Given the description of an element on the screen output the (x, y) to click on. 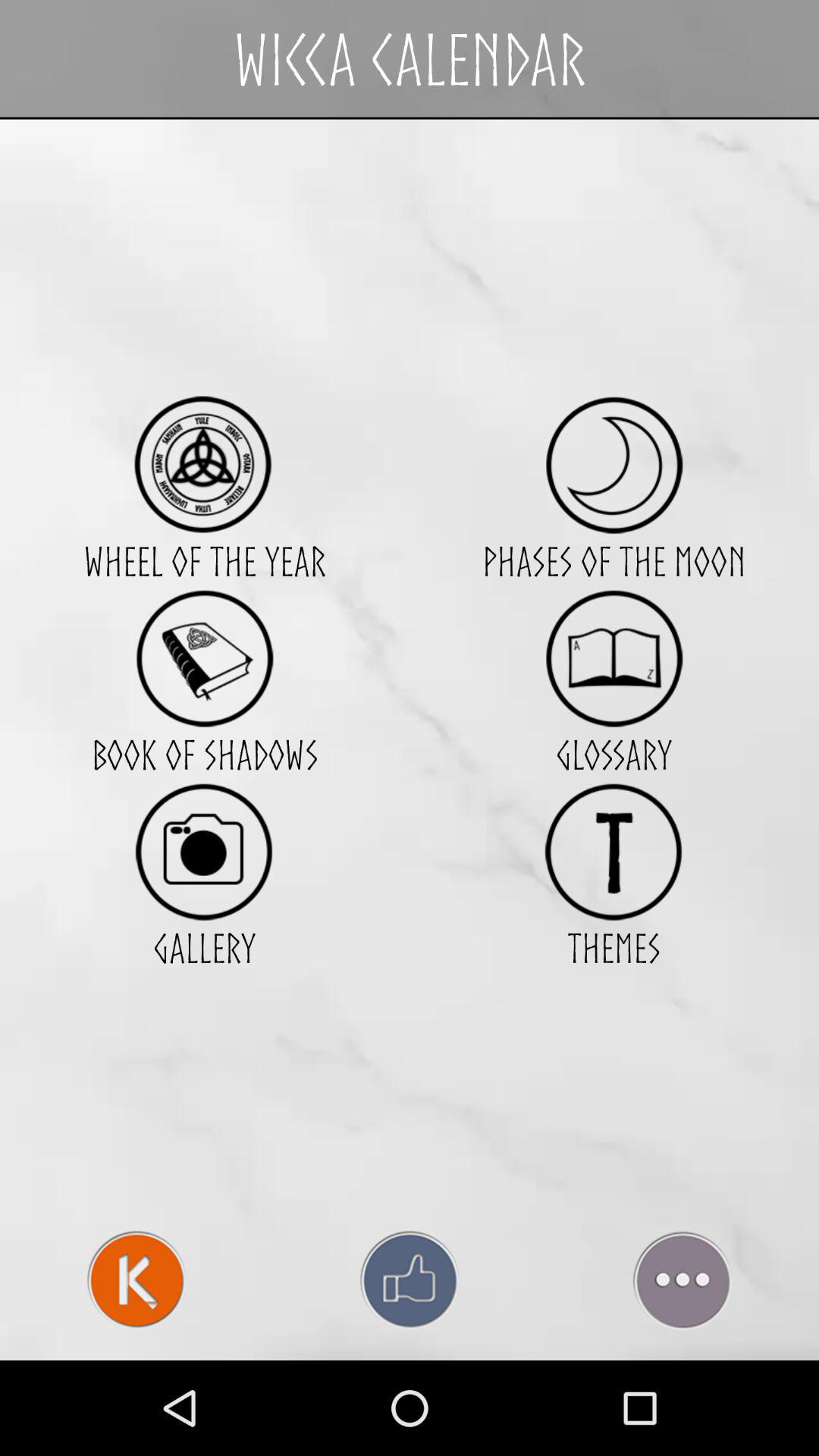
thumbs up (409, 1280)
